Given the description of an element on the screen output the (x, y) to click on. 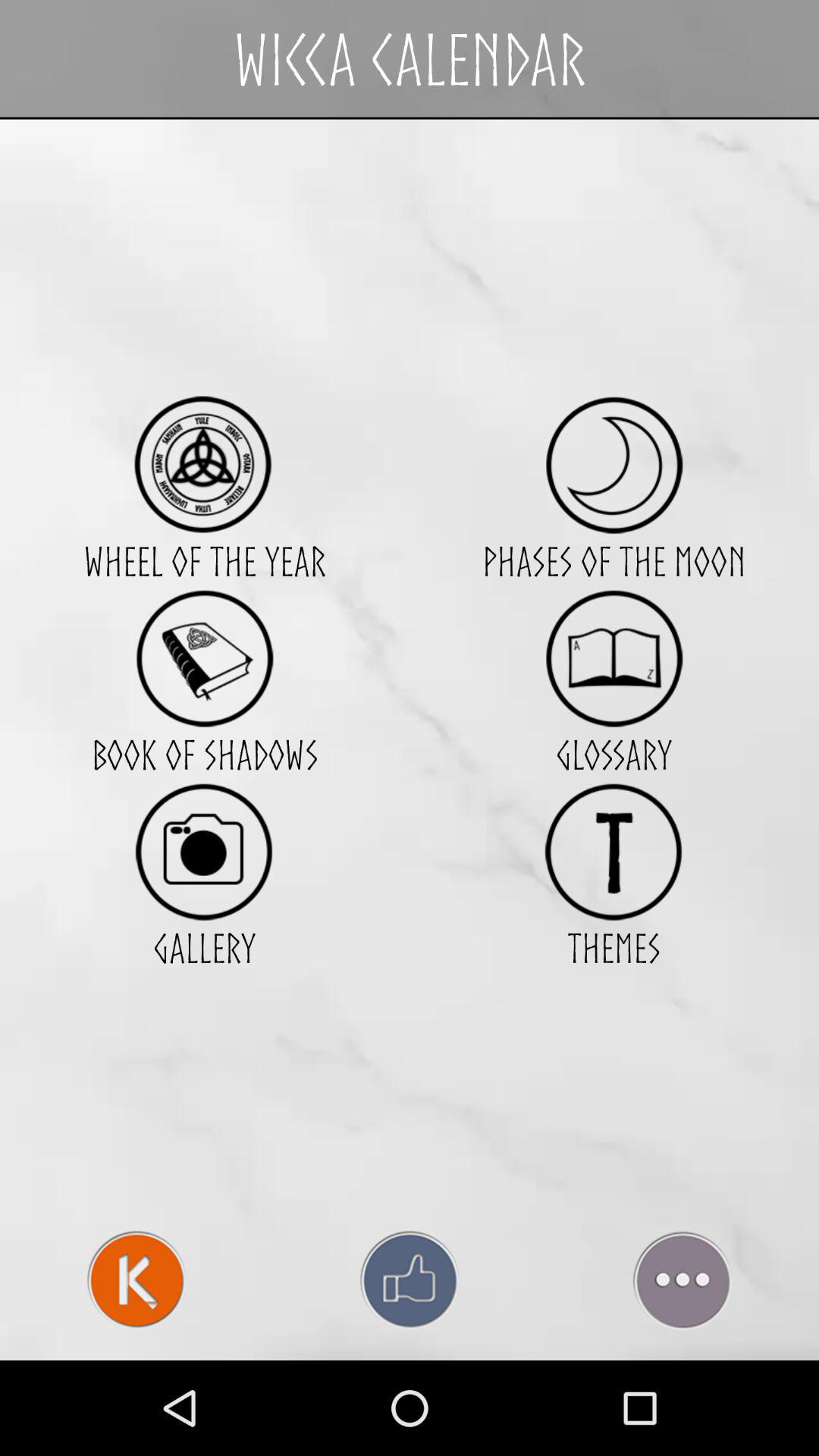
thumbs up (409, 1280)
